Given the description of an element on the screen output the (x, y) to click on. 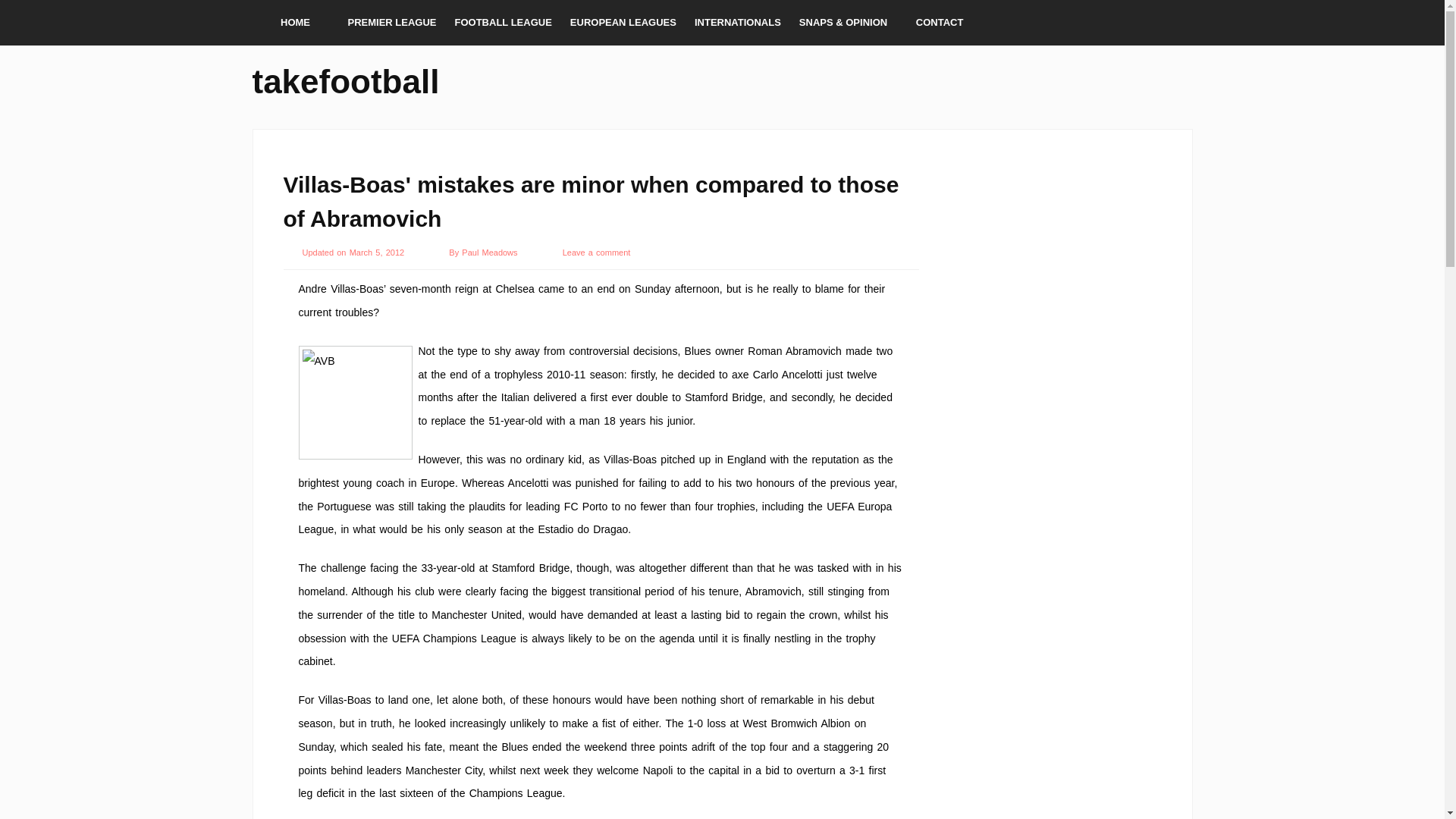
CONTACT (939, 22)
EUROPEAN LEAGUES (622, 22)
FOOTBALL LEAGUE (502, 22)
Paul Meadows (490, 252)
AVB (355, 402)
PREMIER LEAGUE (391, 22)
Leave a comment (596, 252)
takefootball (345, 79)
HOME (294, 22)
INTERNATIONALS (737, 22)
